Given the description of an element on the screen output the (x, y) to click on. 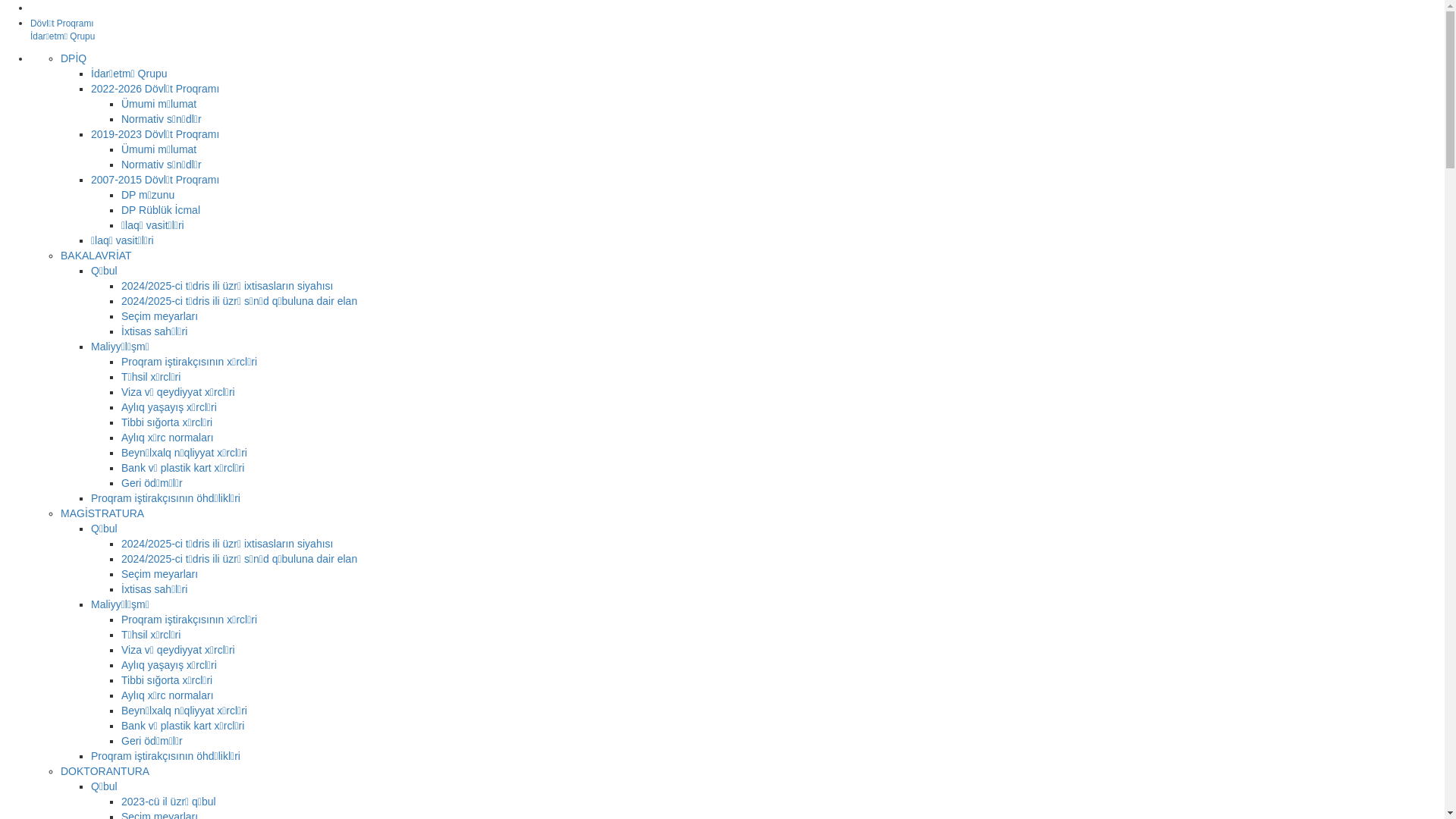
DOKTORANTURA Element type: text (104, 771)
